Given the description of an element on the screen output the (x, y) to click on. 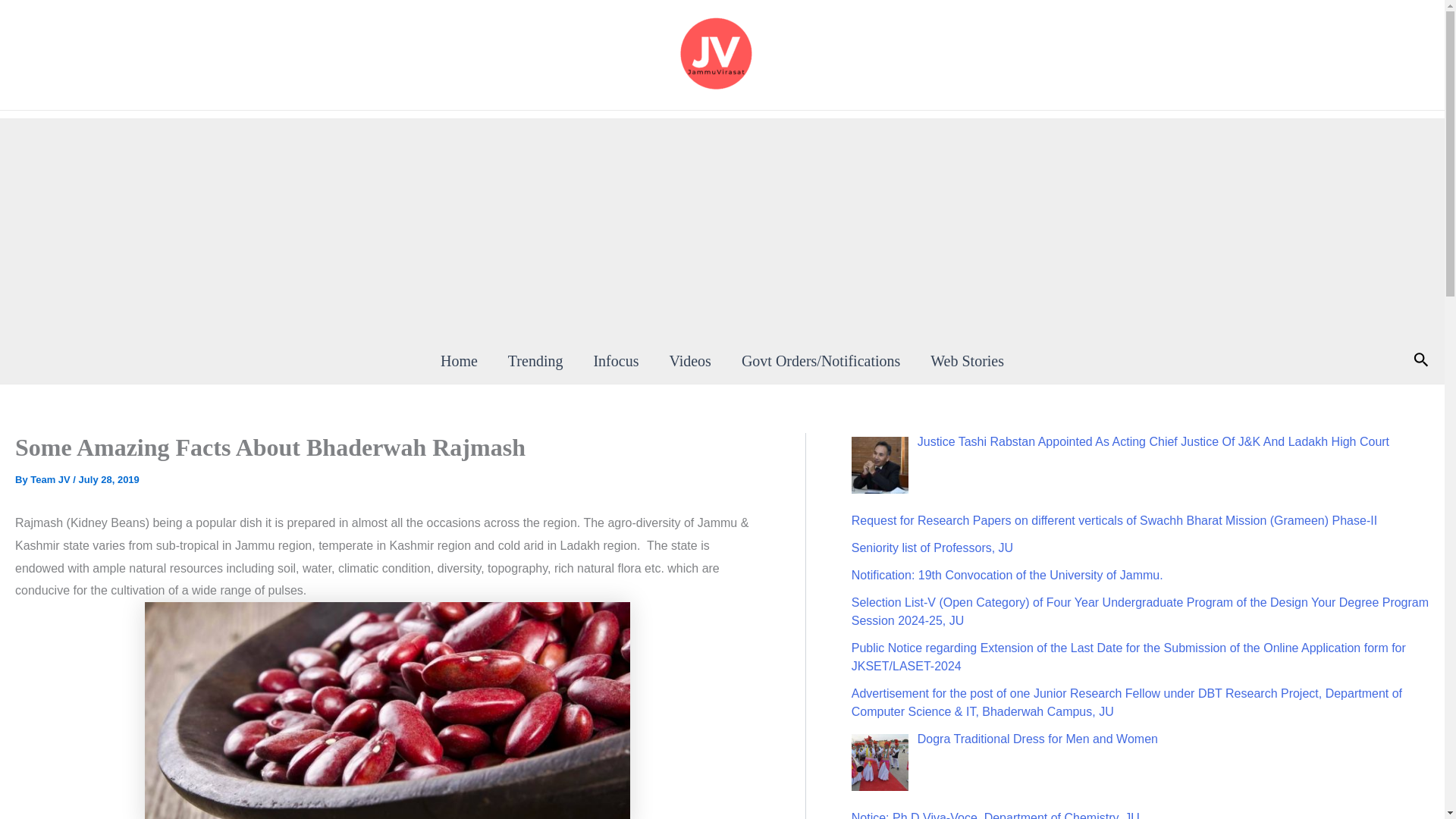
Web Stories (967, 361)
Videos (689, 361)
Trending (535, 361)
View all posts by Team JV (51, 479)
Team JV (51, 479)
Home (459, 361)
Infocus (615, 361)
